Given the description of an element on the screen output the (x, y) to click on. 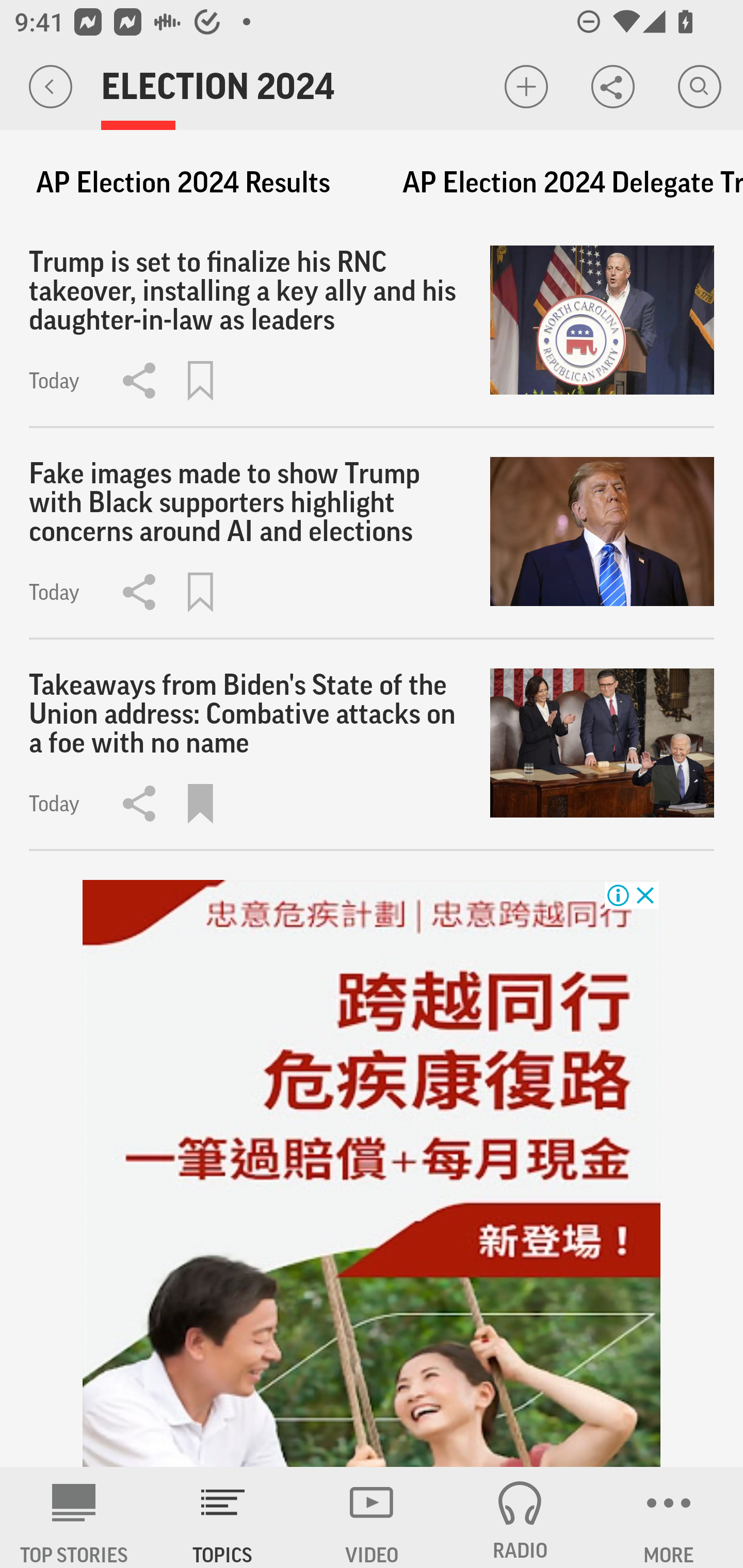
AP Election 2024 Results (182, 182)
AP Election 2024 Delegate Tracker (563, 182)
AP News TOP STORIES (74, 1517)
TOPICS (222, 1517)
VIDEO (371, 1517)
RADIO (519, 1517)
MORE (668, 1517)
